Given the description of an element on the screen output the (x, y) to click on. 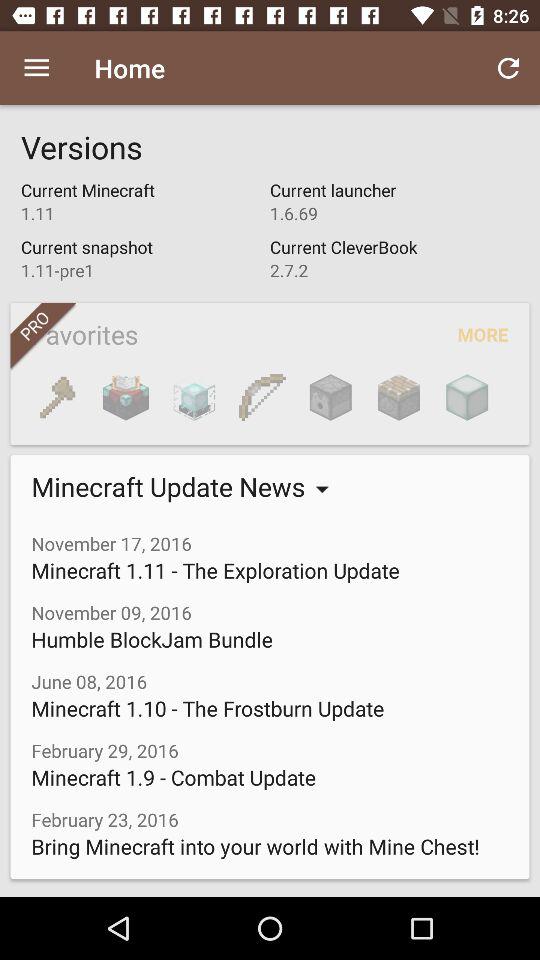
turn off item above minecraft update news item (330, 397)
